Given the description of an element on the screen output the (x, y) to click on. 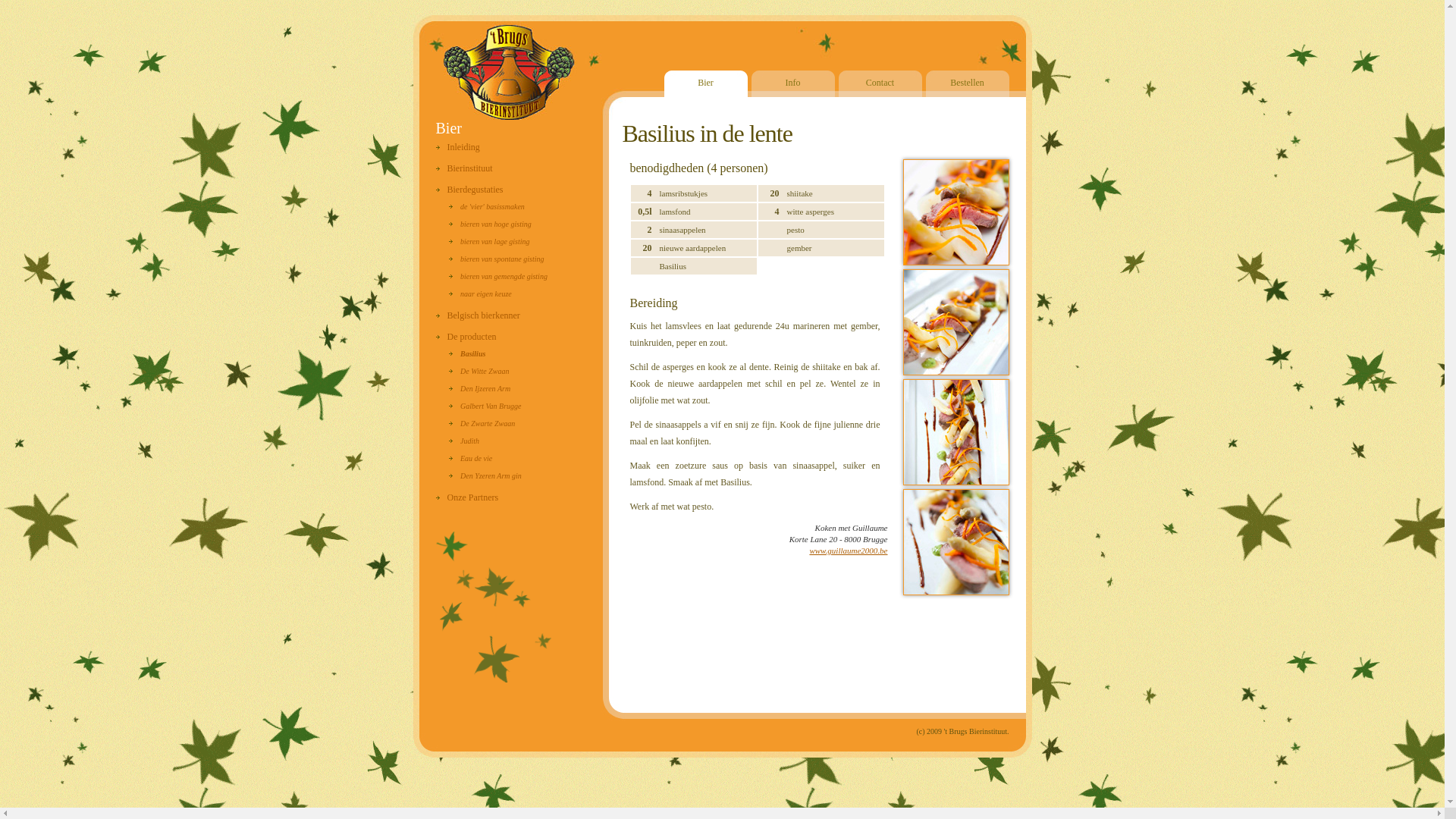
Galbert Van Brugge Element type: text (484, 405)
Inleiding Element type: text (457, 146)
naar eigen keuze Element type: text (479, 293)
Bier Element type: text (705, 83)
bieren van spontane gisting Element type: text (495, 258)
De Zwarte Zwaan Element type: text (481, 423)
www.guillaume2000.be Element type: text (848, 550)
Den Ijzeren Arm Element type: text (479, 388)
Eau de vie Element type: text (470, 458)
bieren van gemengde gisting Element type: text (497, 276)
Bestellen Element type: text (966, 83)
Bierinstituut Element type: text (463, 168)
Contact Element type: text (880, 83)
Den Yzeren Arm gin Element type: text (484, 475)
bieren van lage gisting Element type: text (489, 241)
de 'vier' basissmaken Element type: text (486, 206)
De Witte Zwaan Element type: text (478, 371)
Judith Element type: text (463, 440)
De producten Element type: text (465, 336)
Info Element type: text (792, 83)
Bierdegustaties Element type: text (468, 189)
Onze Partners Element type: text (466, 497)
bieren van hoge gisting Element type: text (489, 223)
Basilius Element type: text (466, 353)
Belgisch bierkenner Element type: text (477, 315)
